Given the description of an element on the screen output the (x, y) to click on. 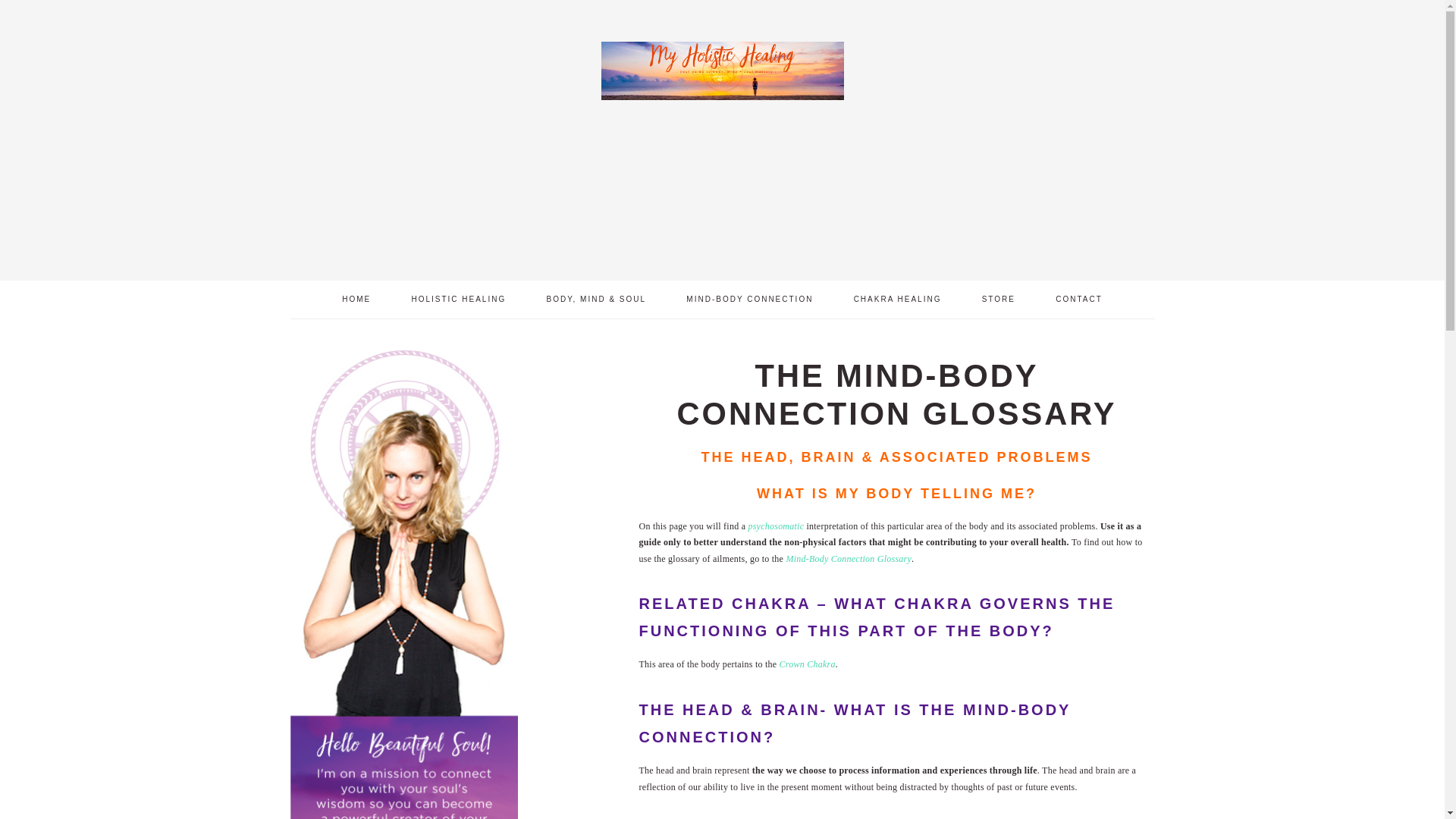
CONTACT (1078, 299)
HOME (356, 299)
Mind-Body Connection Glossary (848, 558)
Crown Chakra (806, 664)
psychosomatic (775, 525)
HOLISTIC HEALING (457, 299)
MIND-BODY CONNECTION (748, 299)
MY HOLISTIC HEALING (721, 98)
STORE (997, 299)
